Given the description of an element on the screen output the (x, y) to click on. 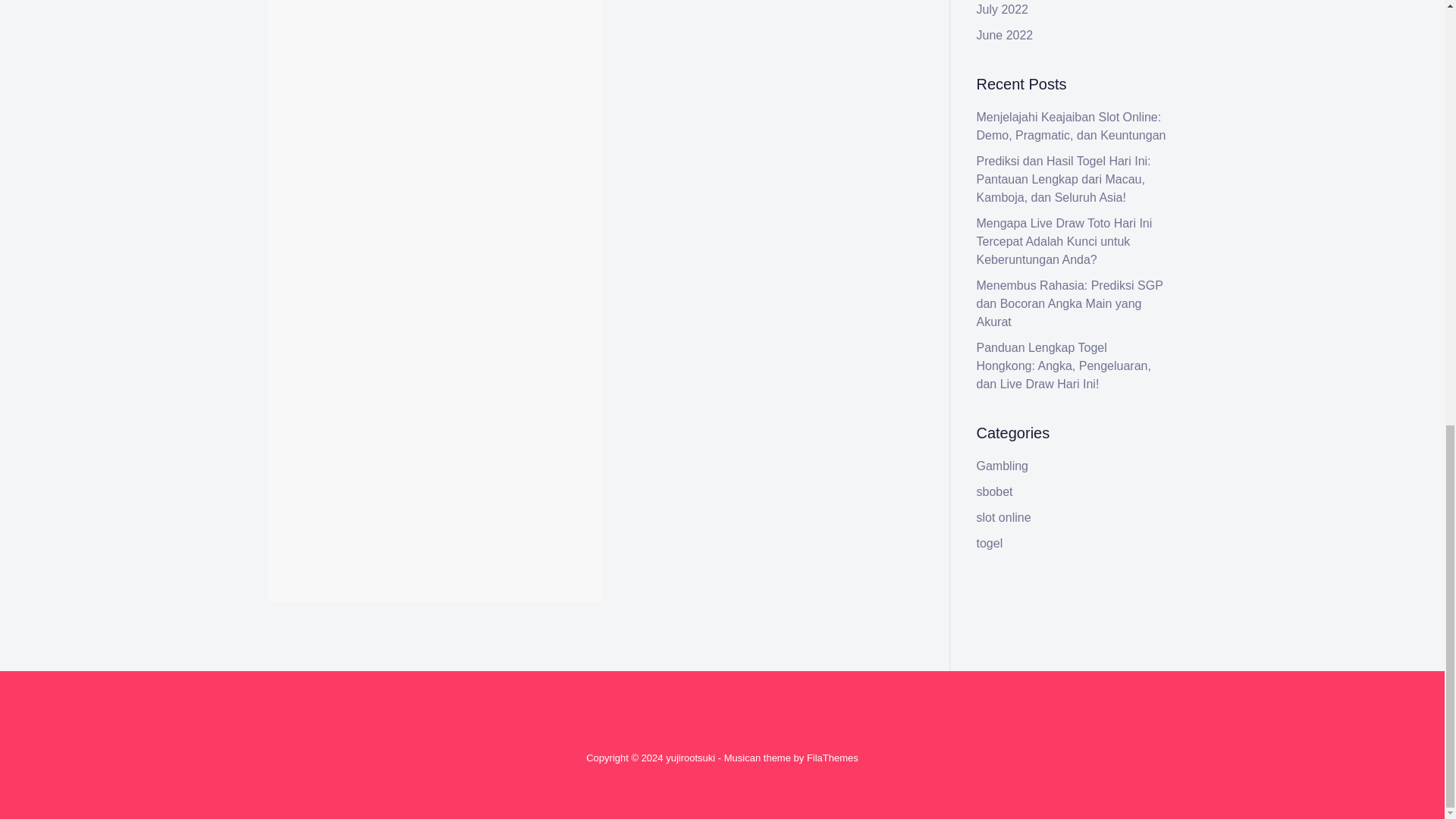
July 2022 (1002, 9)
yujirootsuki (689, 757)
togel online (456, 51)
June 2022 (1004, 34)
